Given the description of an element on the screen output the (x, y) to click on. 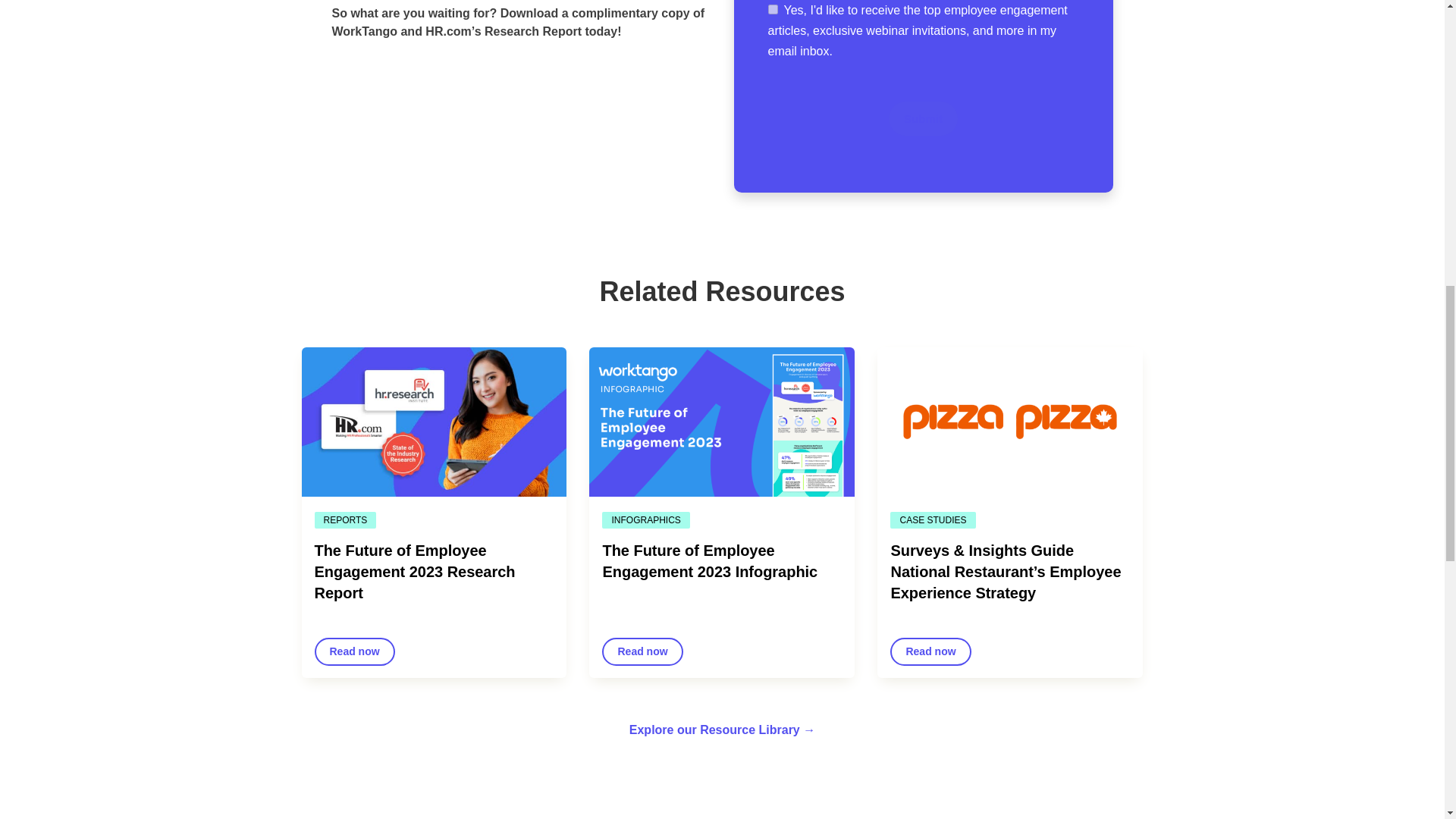
true (772, 9)
Submit (923, 118)
